Given the description of an element on the screen output the (x, y) to click on. 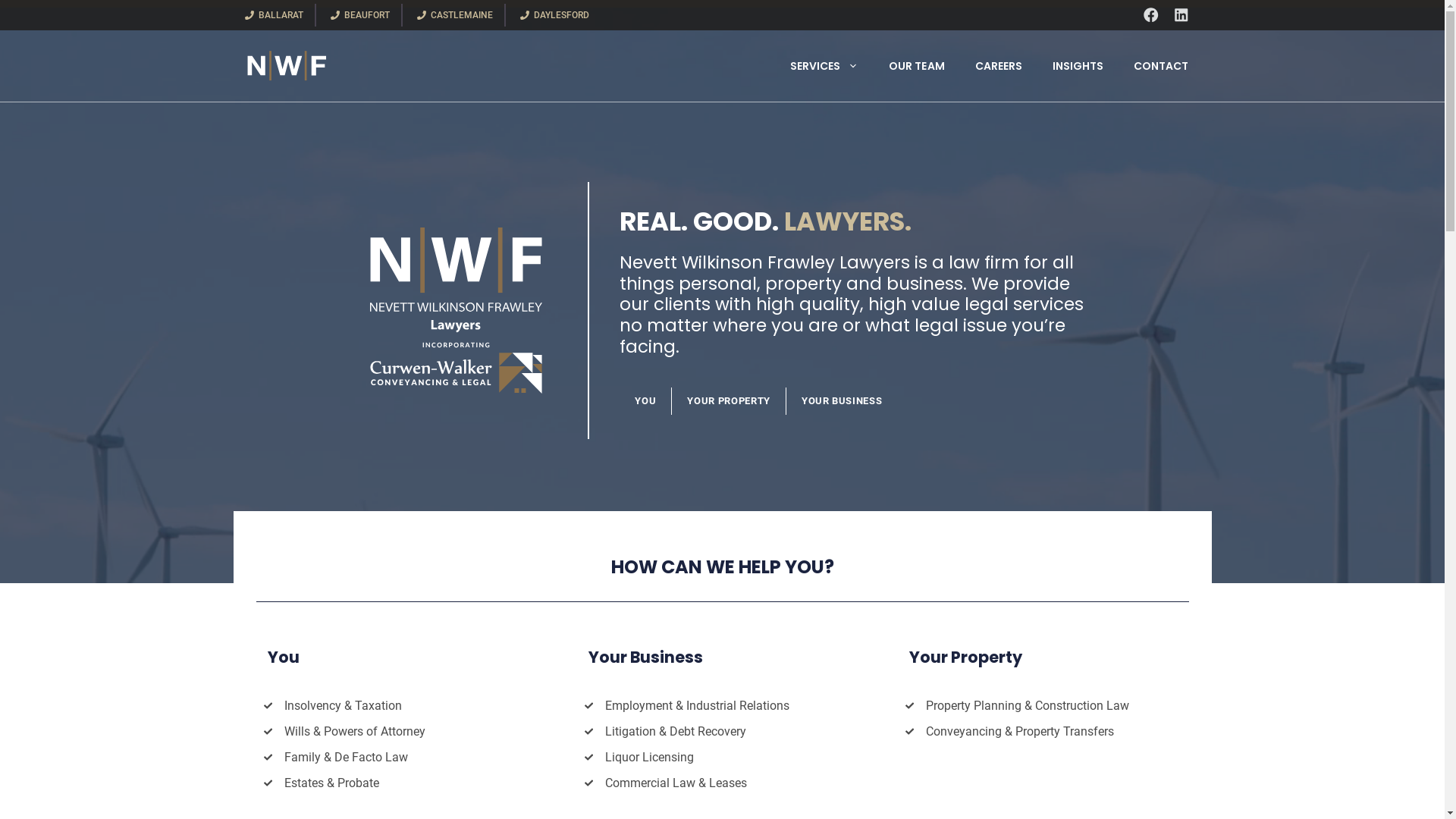
NWF CW_Colour-Rev-Transparent Element type: hover (456, 310)
Family & De Facto Law Element type: text (345, 756)
INSIGHTS Element type: text (1077, 65)
Commercial Law & Leases Element type: text (675, 782)
DAYLESFORD Element type: text (553, 14)
Employment & Industrial Relations Element type: text (697, 705)
CAREERS Element type: text (998, 65)
SERVICES Element type: text (824, 65)
Liquor Licensing Element type: text (649, 756)
CASTLEMAINE Element type: text (454, 14)
Wills & Powers of Attorney Element type: text (354, 731)
Insolvency & Taxation Element type: text (342, 705)
BALLARAT Element type: text (274, 14)
Nevett Wilkinson Frawley Element type: hover (286, 65)
Litigation & Debt Recovery Element type: text (675, 731)
CONTACT Element type: text (1160, 65)
YOU Element type: text (645, 400)
Property Planning & Construction Law Element type: text (1027, 705)
YOUR BUSINESS Element type: text (841, 400)
OUR TEAM Element type: text (916, 65)
Estates & Probate Element type: text (331, 782)
Conveyancing & Property Transfers Element type: text (1019, 731)
BEAUFORT Element type: text (359, 14)
YOUR PROPERTY Element type: text (728, 400)
Nevett Wilkinson Frawley Element type: hover (286, 64)
